Given the description of an element on the screen output the (x, y) to click on. 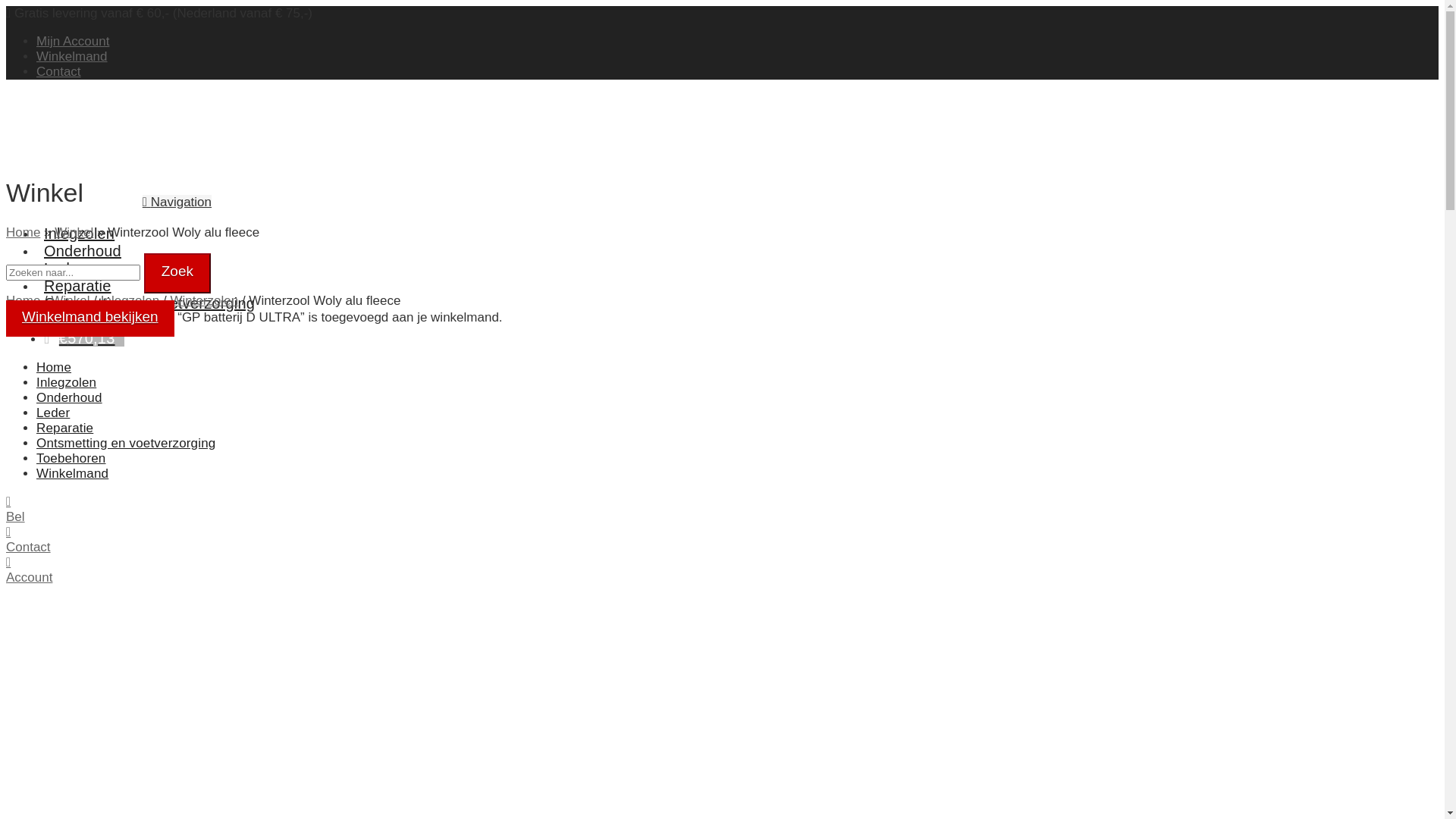
Home Element type: text (23, 300)
Account Element type: text (29, 569)
Winkel Element type: text (73, 232)
Onderhoud Element type: text (82, 236)
Leder Element type: text (52, 412)
Home Element type: text (53, 367)
Inlegzolen Element type: text (130, 300)
Winkel Element type: text (70, 300)
Onderhoud Element type: text (69, 397)
Winkelmand bekijken Element type: text (90, 318)
Inlegzolen Element type: text (66, 382)
Ontsmetting en voetverzorging Element type: text (125, 443)
Winterzolen Element type: text (203, 300)
Reparatie Element type: text (64, 427)
Winkelmand Element type: text (72, 473)
Inlegzolen Element type: text (79, 219)
Reparatie Element type: text (77, 271)
Navigation Element type: text (176, 201)
Ontsmetting en voetverzorging Element type: text (149, 288)
Mijn Account Element type: text (72, 41)
Toebehoren Element type: text (71, 458)
Winkelmand Element type: text (71, 56)
Leder Element type: text (63, 254)
Zoek Element type: text (177, 273)
Home Element type: text (23, 232)
Contact Element type: text (28, 539)
Toebehoren Element type: text (84, 306)
Contact Element type: text (58, 71)
Bel Element type: text (15, 509)
